Given the description of an element on the screen output the (x, y) to click on. 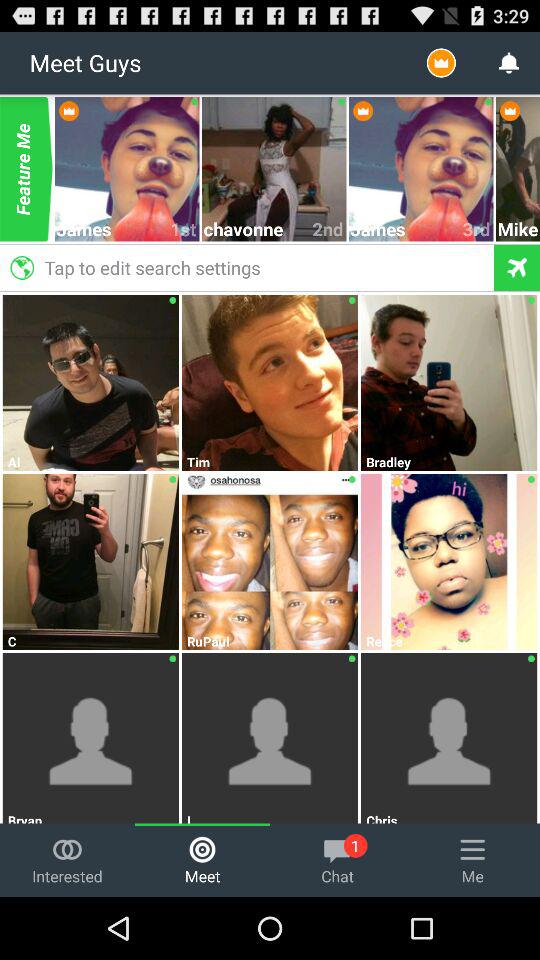
flip until the c item (91, 641)
